Given the description of an element on the screen output the (x, y) to click on. 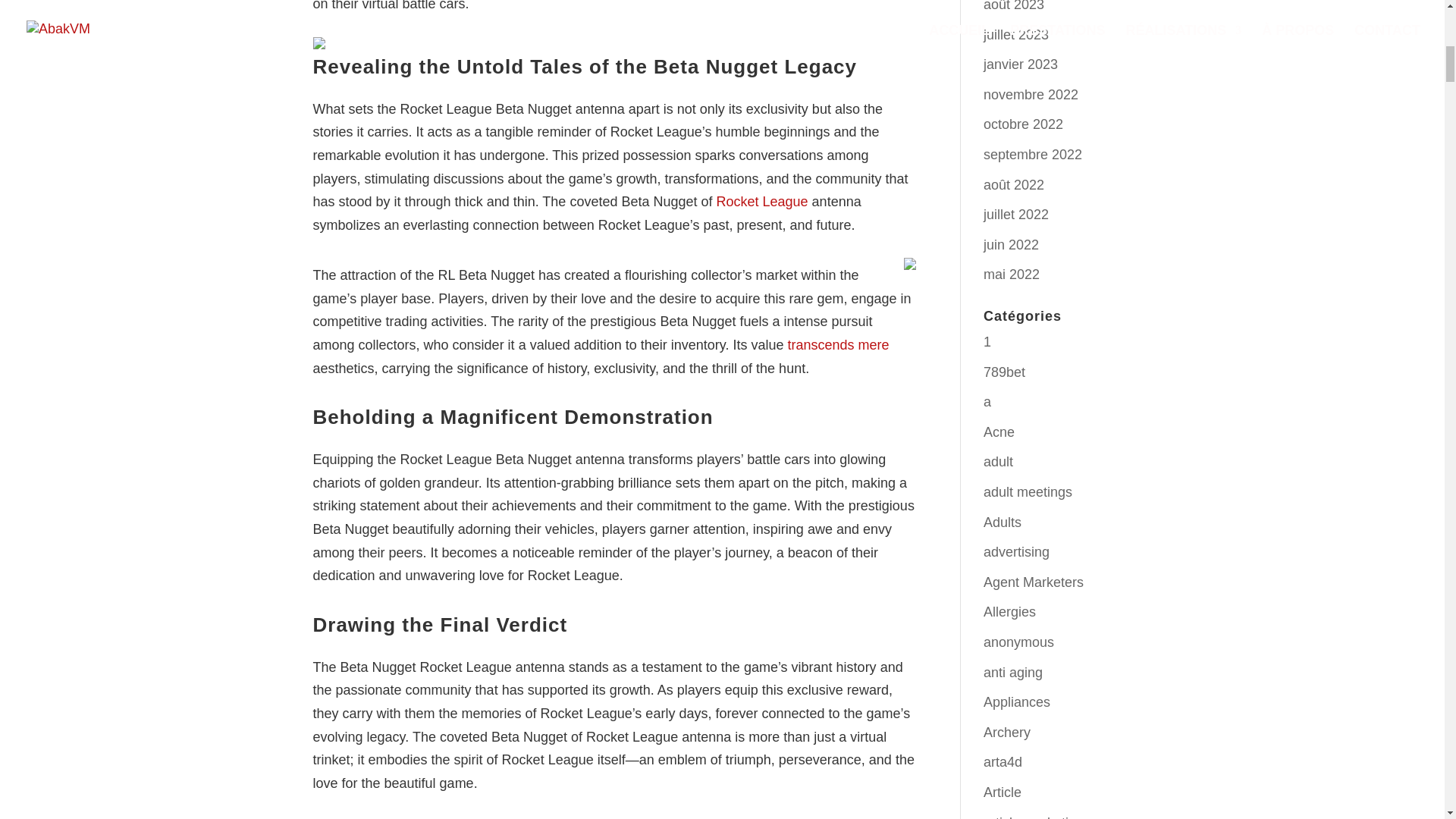
novembre 2022 (1031, 94)
juillet 2022 (1016, 214)
juillet 2023 (1016, 34)
Rocket League (762, 201)
transcends mere (838, 344)
octobre 2022 (1023, 124)
janvier 2023 (1021, 64)
septembre 2022 (1032, 154)
